Given the description of an element on the screen output the (x, y) to click on. 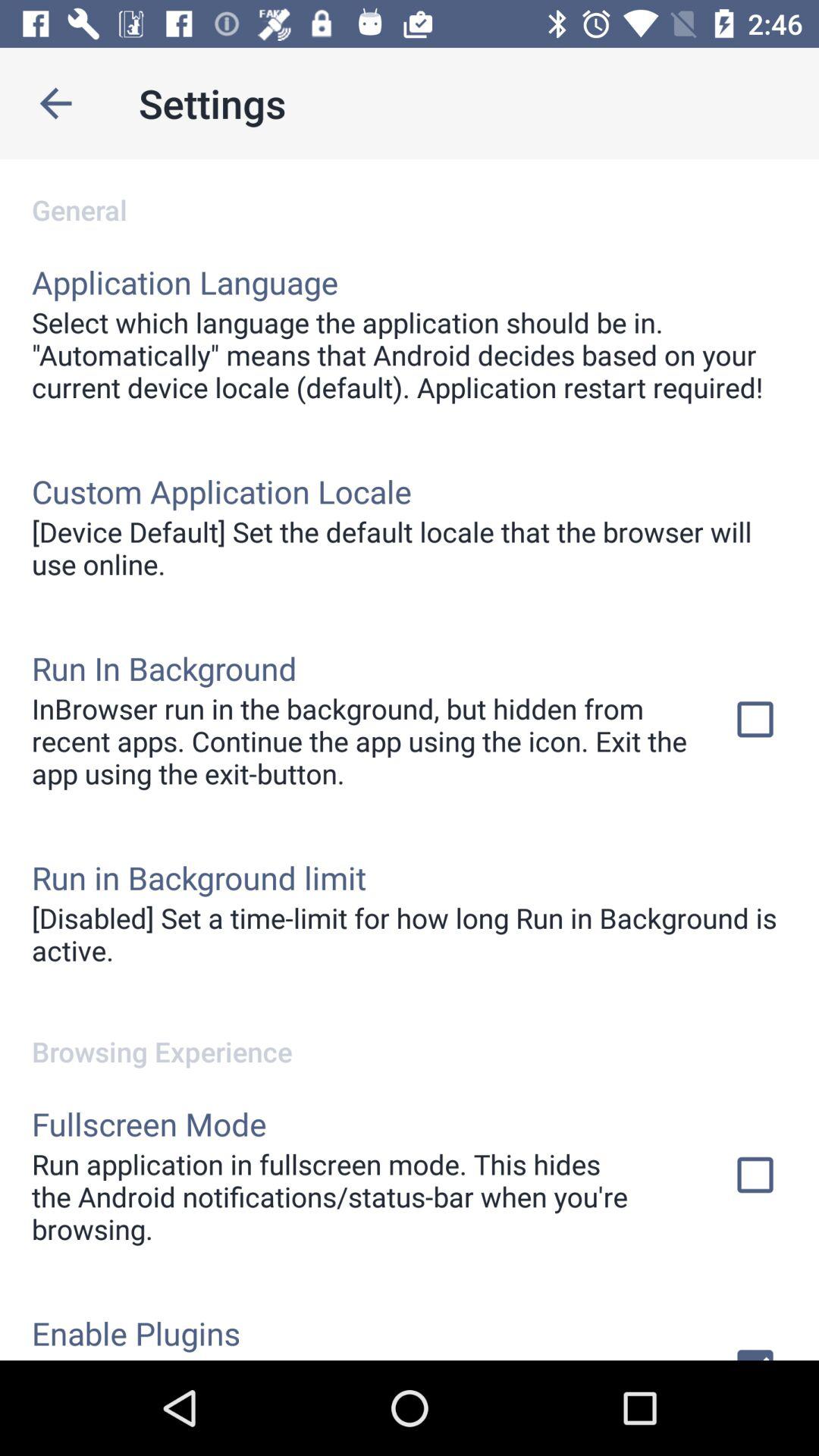
press app above the application language (409, 193)
